Given the description of an element on the screen output the (x, y) to click on. 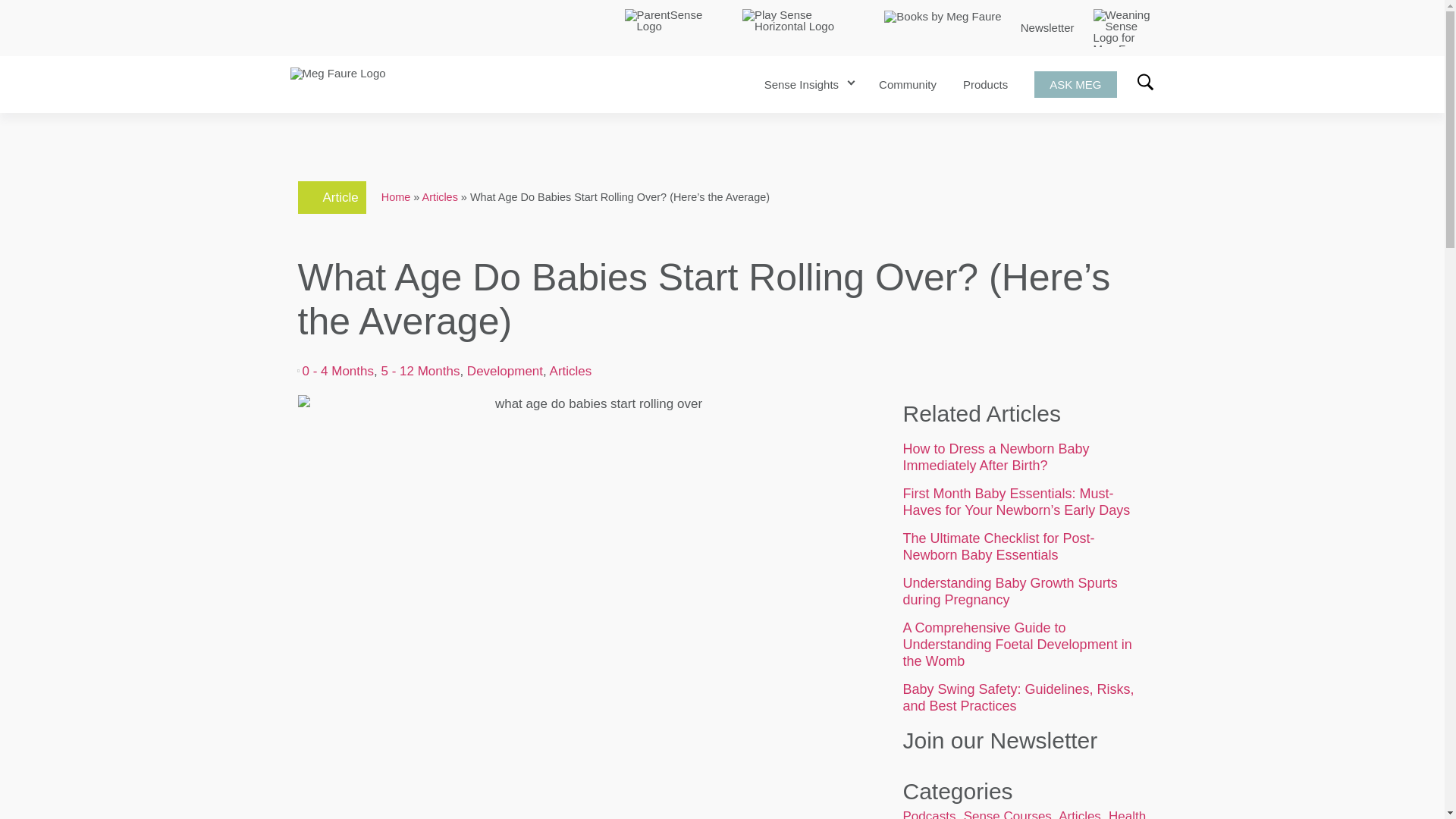
The Ultimate Checklist for Post-Newborn Baby Essentials (998, 546)
How to Dress a Newborn Baby Immediately After Birth? (995, 457)
Podcasts (928, 814)
Articles (571, 370)
Products (984, 83)
ASK MEG (1074, 84)
0 - 4 Months (337, 370)
Community (907, 83)
Baby Swing Safety: Guidelines, Risks, and Best Practices (1018, 697)
Articles (440, 196)
